Given the description of an element on the screen output the (x, y) to click on. 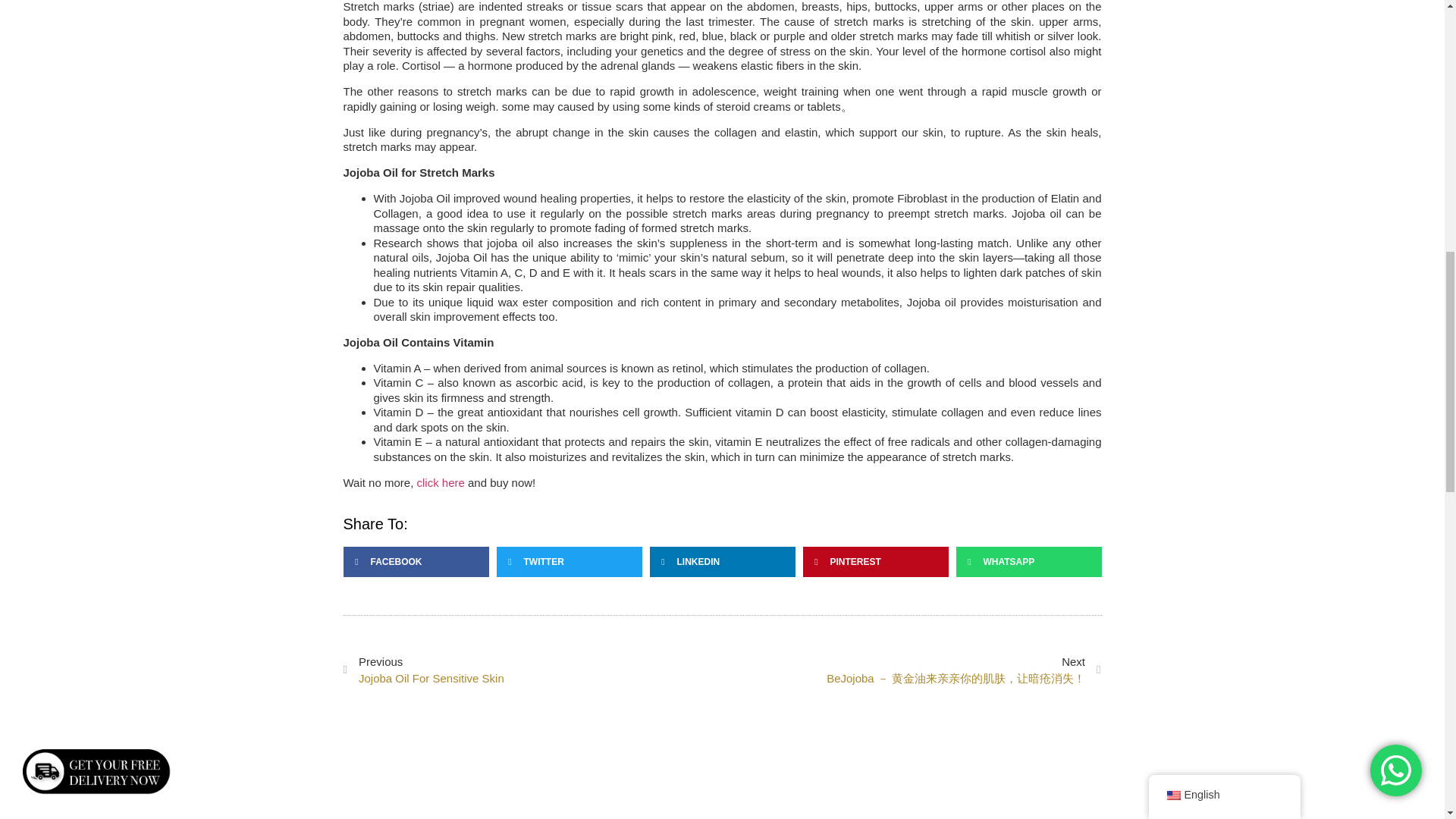
click here (440, 481)
